Given the description of an element on the screen output the (x, y) to click on. 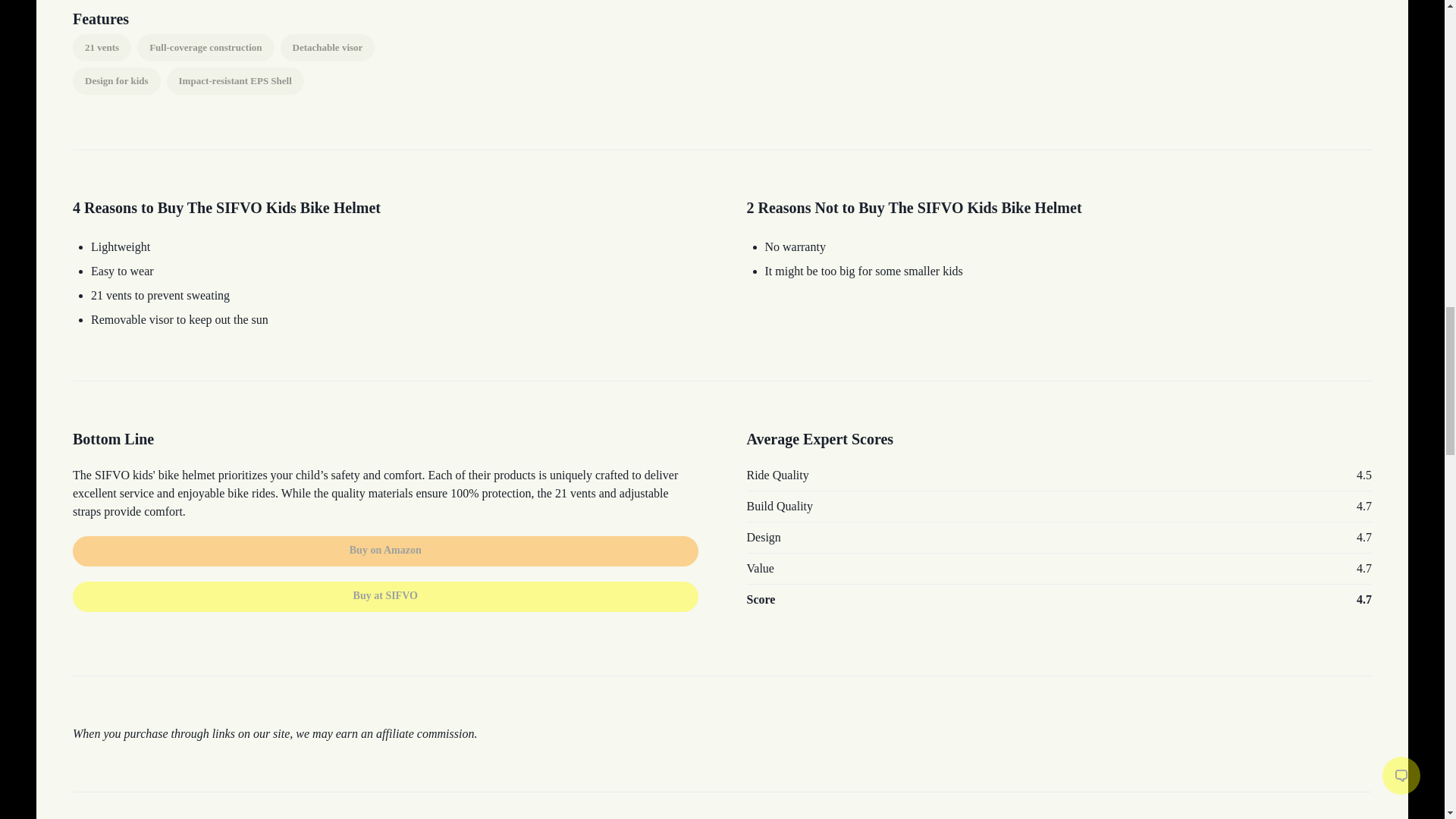
Buy at SIFVO (385, 586)
21 vents (101, 47)
Buy at SIFVO (385, 596)
Buy on Amazon (385, 549)
Design for kids (116, 81)
Impact-resistant EPS Shell (235, 81)
Buy on Amazon (385, 551)
Detachable visor (328, 47)
Full-coverage construction (204, 47)
